Given the description of an element on the screen output the (x, y) to click on. 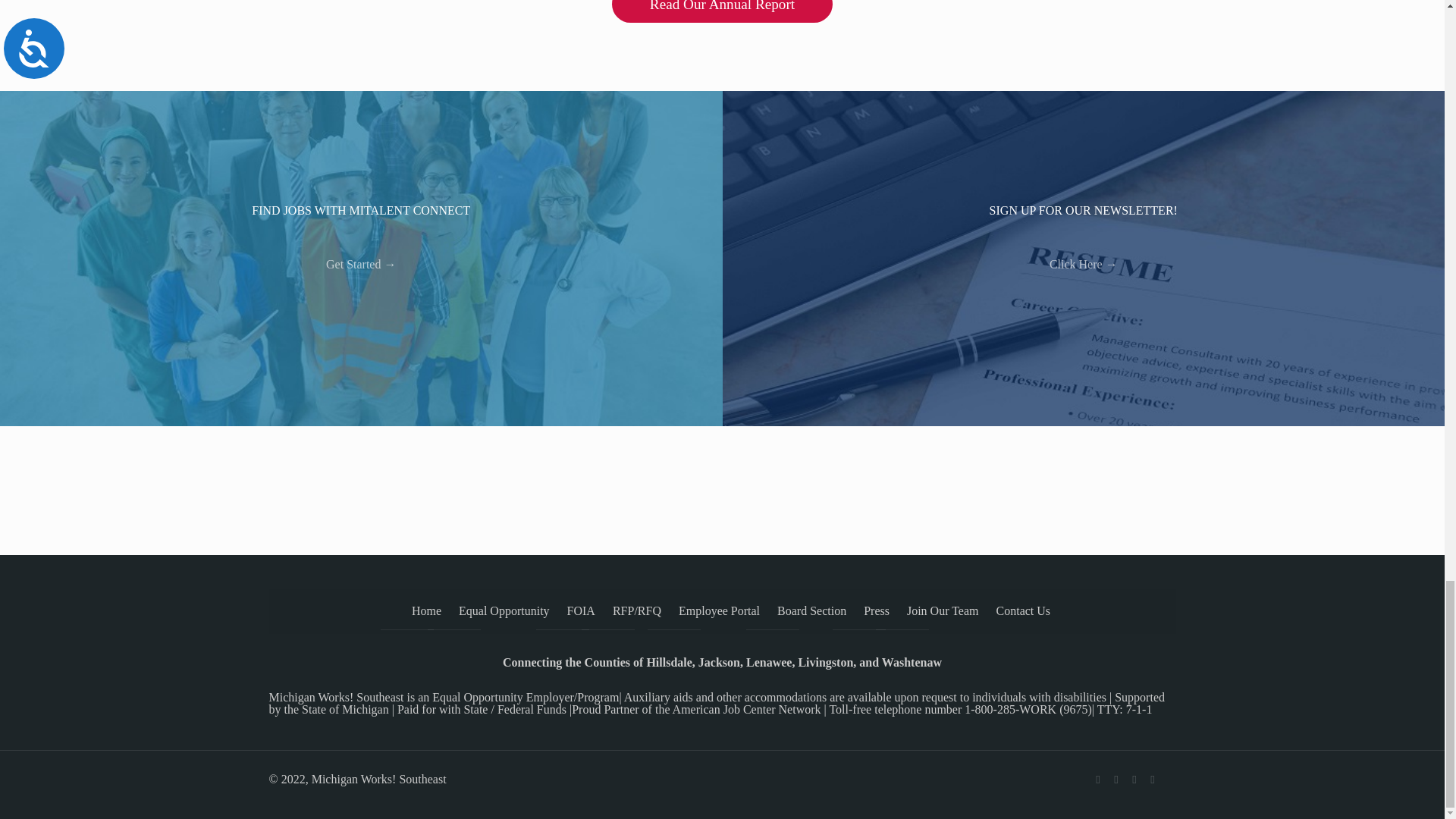
LinkedIn (1153, 779)
Facebook (1098, 779)
Twitter (1116, 779)
YouTube (1134, 779)
